Given the description of an element on the screen output the (x, y) to click on. 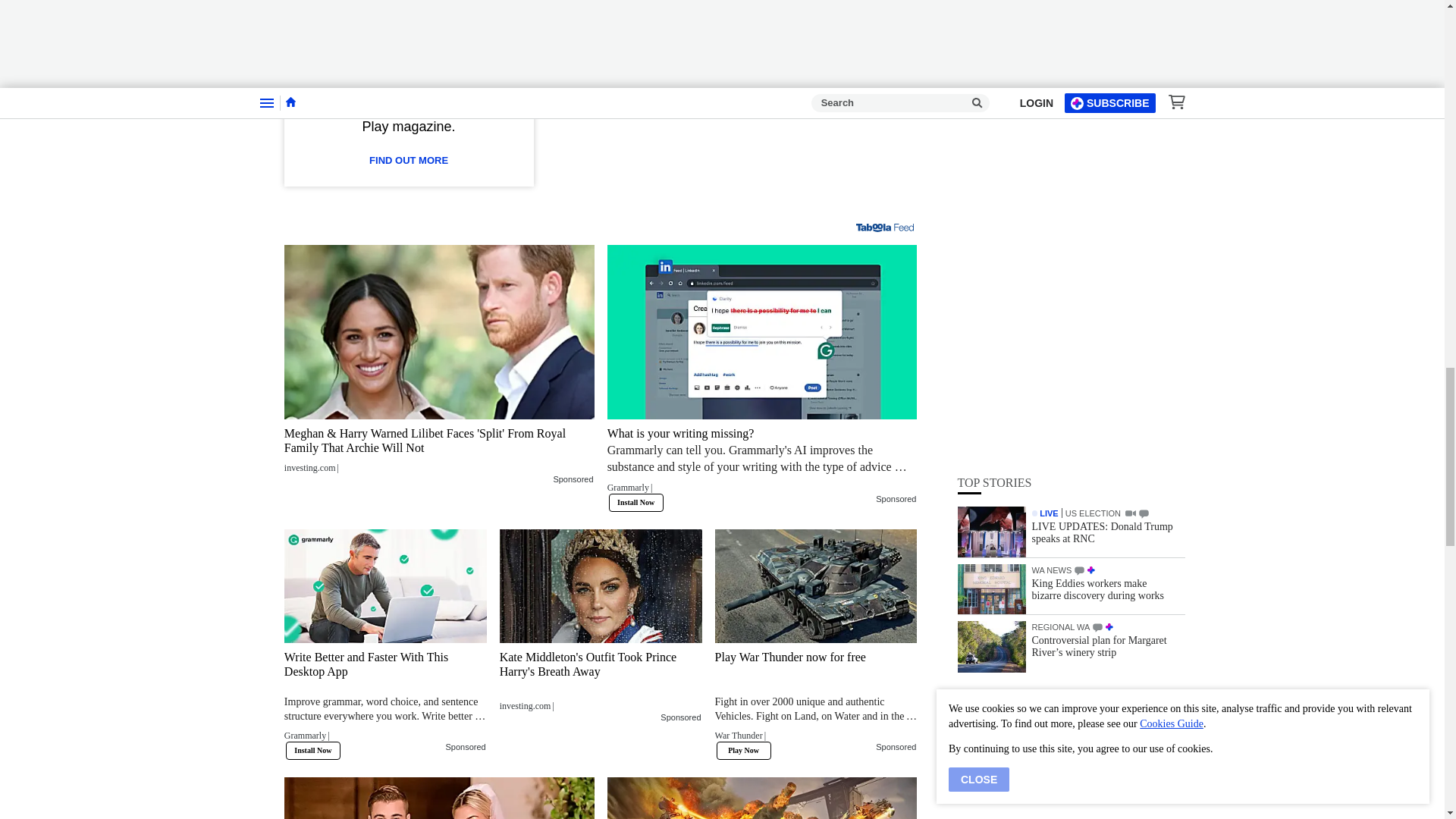
Kate Middleton's Outfit Took Prince Harry's Breath Away (600, 585)
What is your writing missing? (762, 464)
Write Better and Faster With This Desktop App (384, 700)
Kate Middleton's Outfit Took Prince Harry's Breath Away (600, 680)
What is your writing missing? (762, 331)
Write Better and Faster With This Desktop App (384, 585)
